Given the description of an element on the screen output the (x, y) to click on. 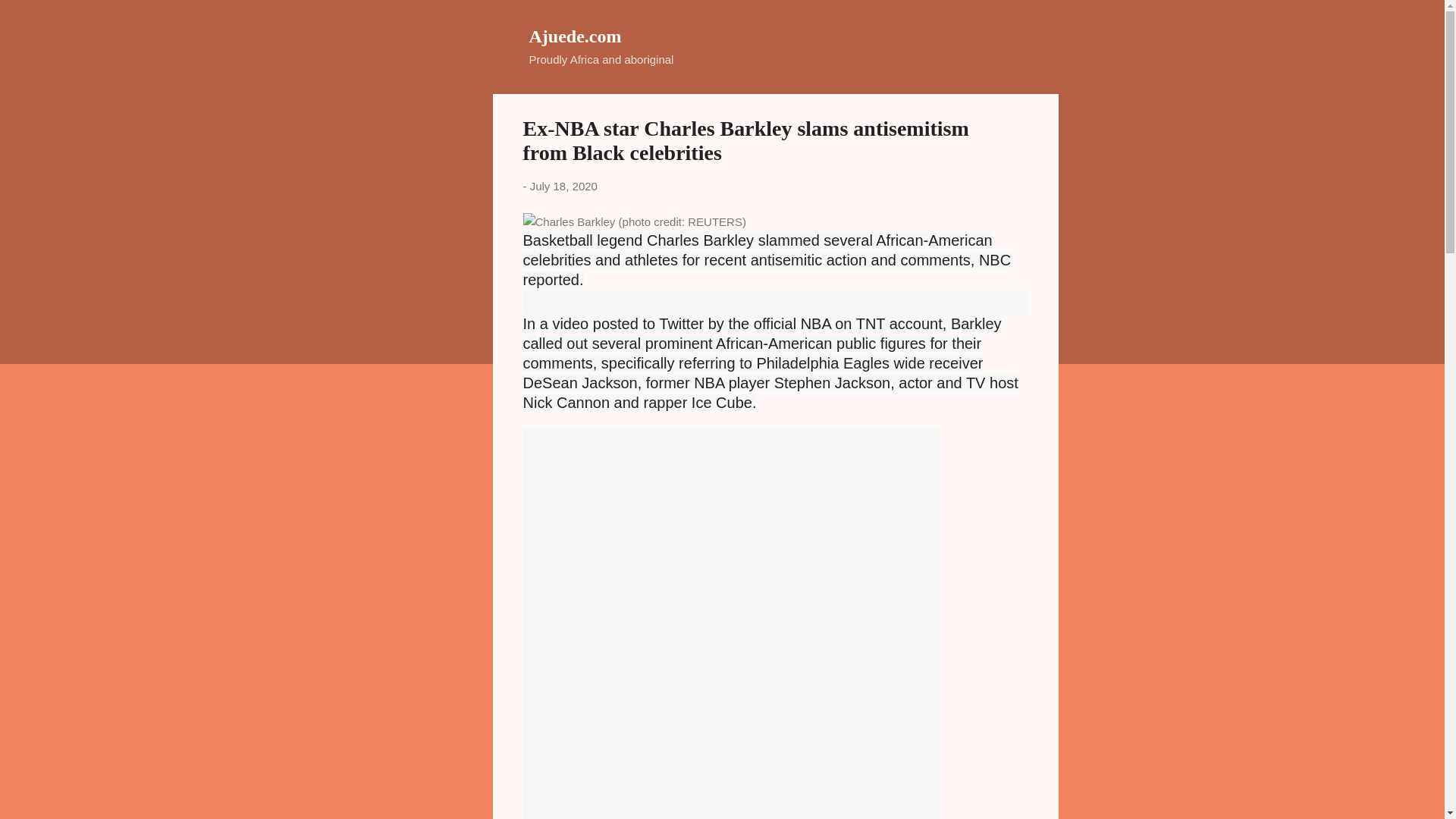
Ajuede.com (575, 35)
July 18, 2020 (562, 185)
Search (29, 18)
permanent link (562, 185)
